Given the description of an element on the screen output the (x, y) to click on. 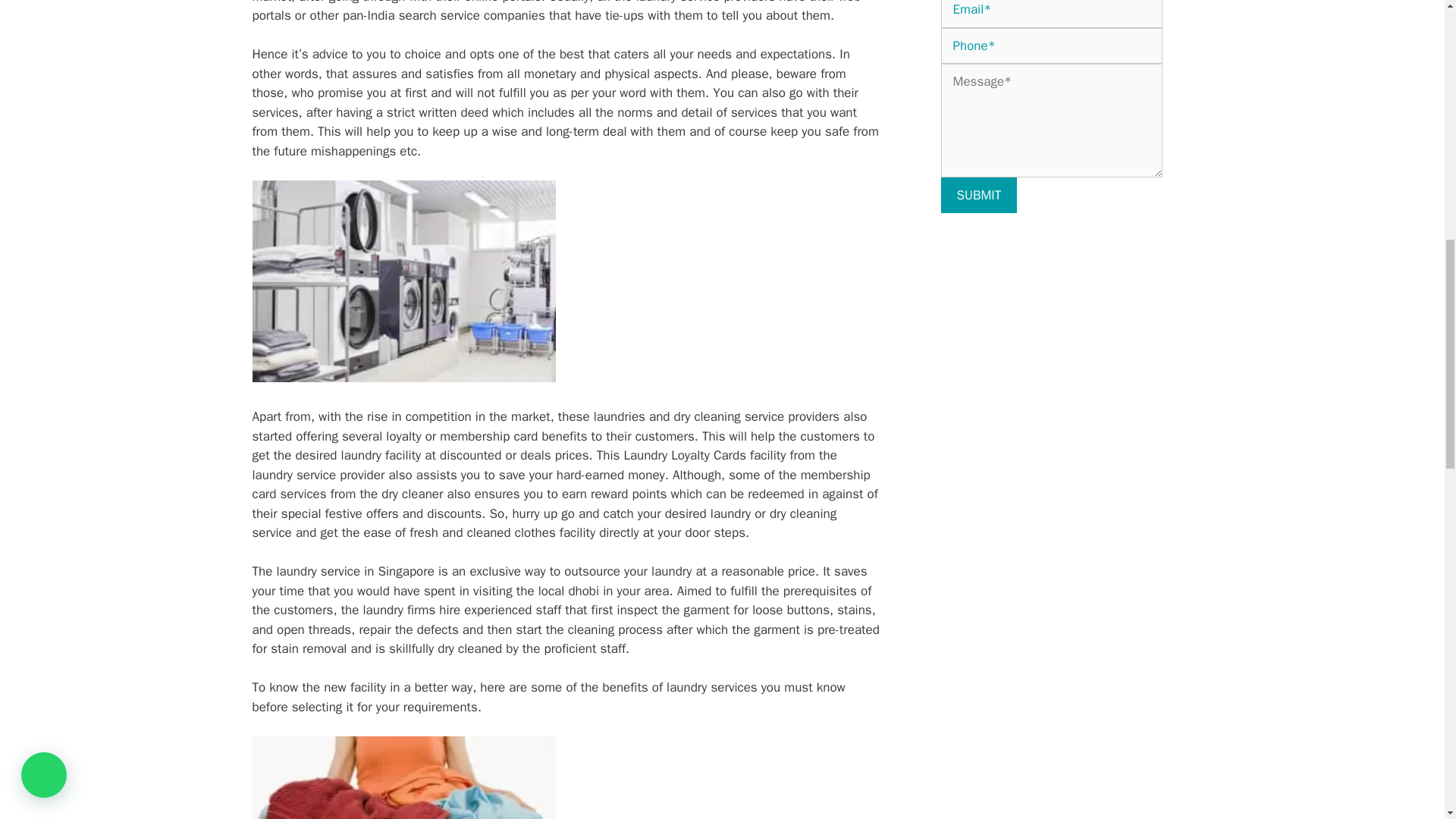
SUBMIT (978, 195)
SUBMIT (978, 195)
